Given the description of an element on the screen output the (x, y) to click on. 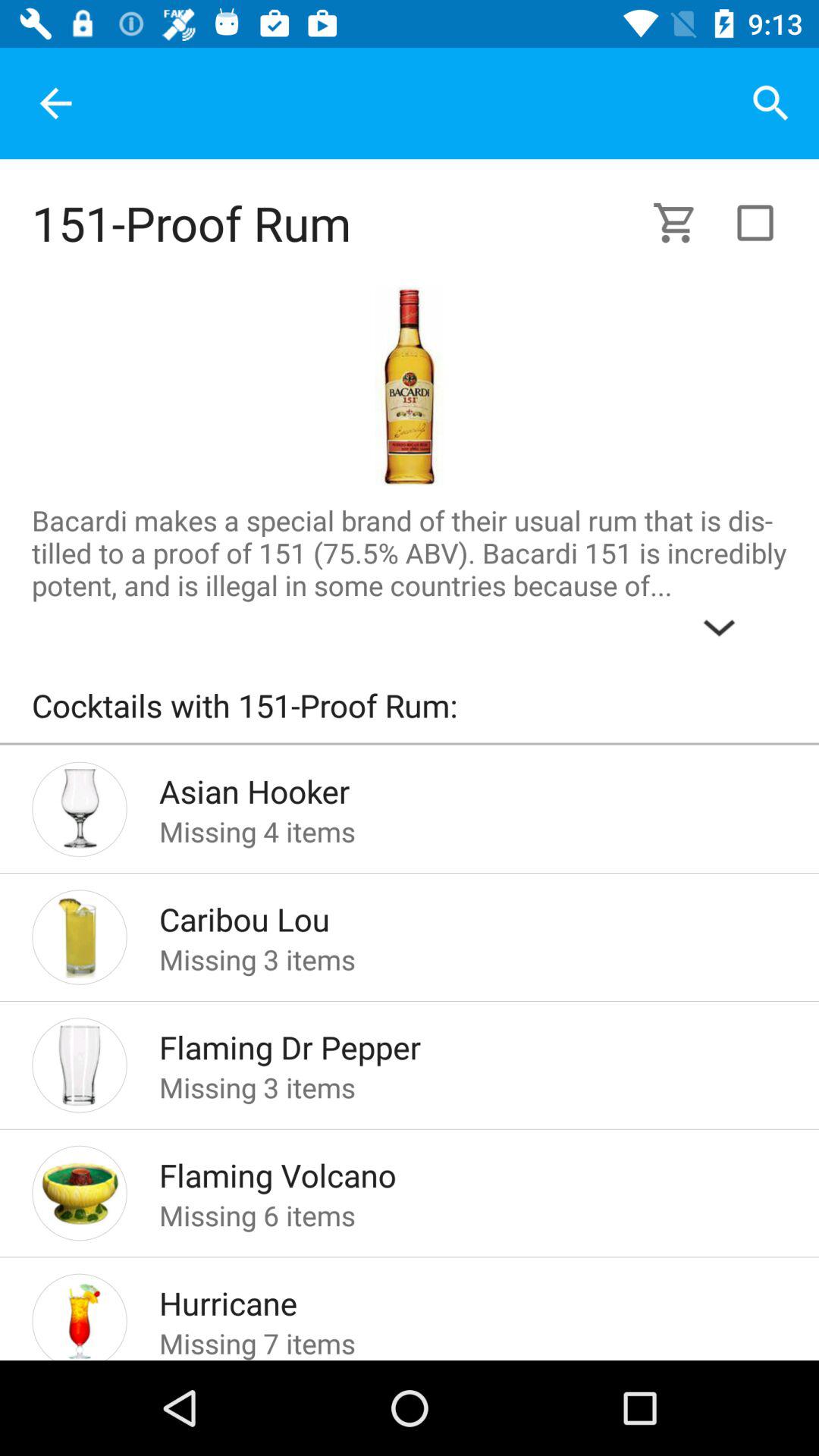
launch icon below bacardi makes a icon (409, 712)
